Given the description of an element on the screen output the (x, y) to click on. 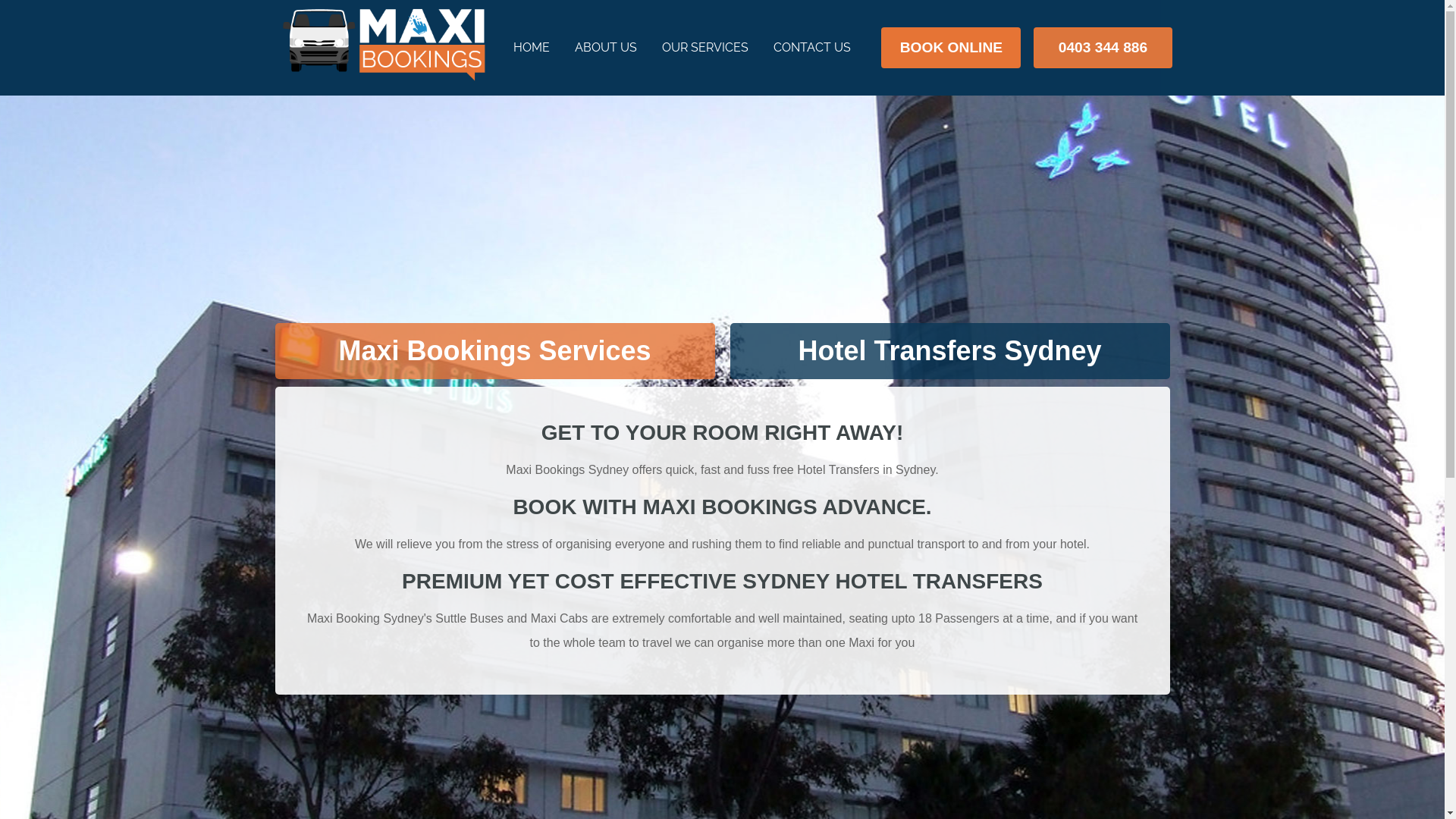
0403 344 886 Element type: text (1102, 47)
BOOK ONLINE Element type: text (950, 47)
OUR SERVICES Element type: text (704, 47)
Maxi Bookings Element type: hover (380, 44)
ABOUT US Element type: text (606, 47)
HOME Element type: text (531, 47)
CONTACT US Element type: text (812, 47)
